Given the description of an element on the screen output the (x, y) to click on. 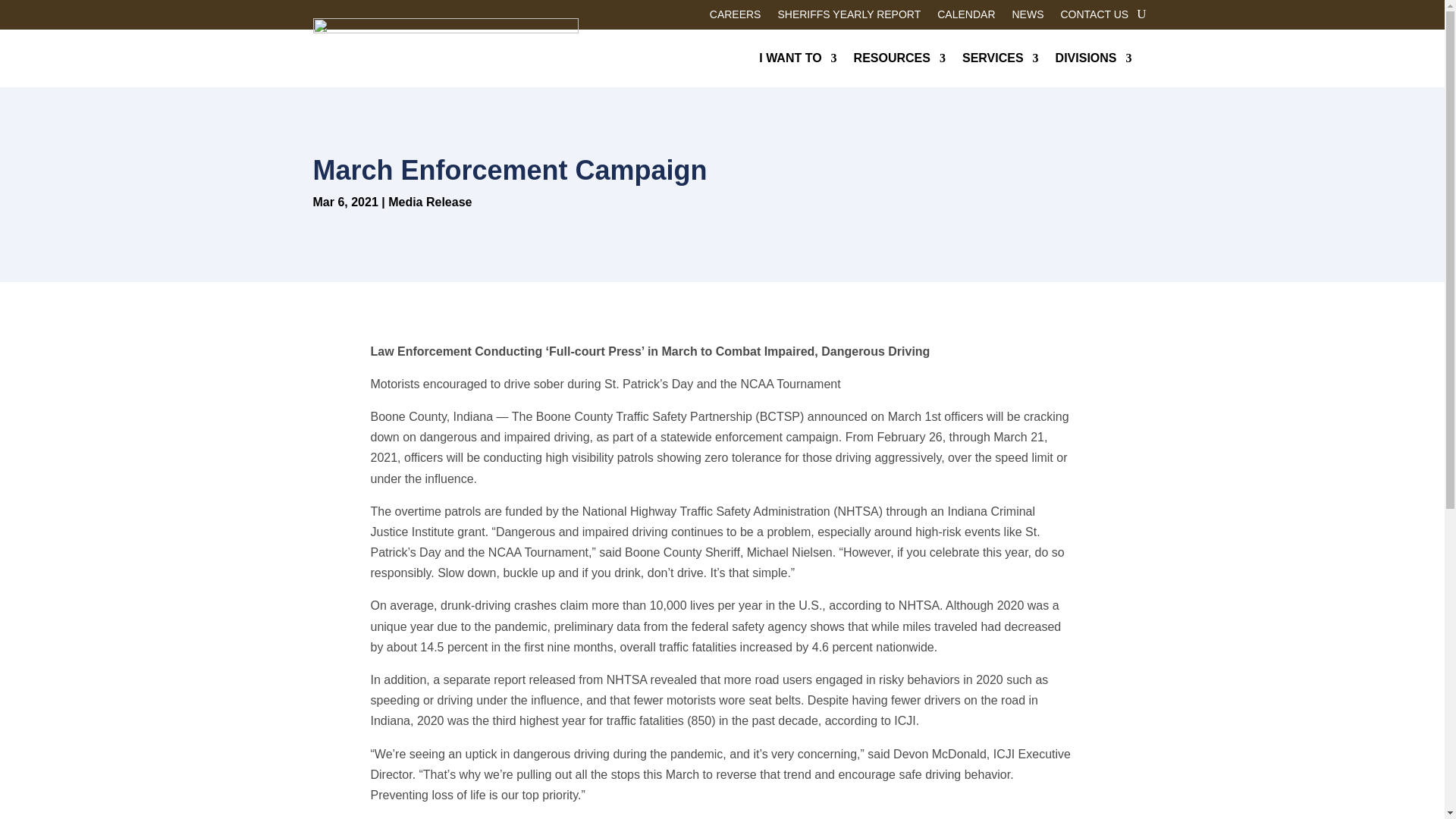
RESOURCES (898, 57)
I WANT TO (796, 57)
CAREERS (735, 17)
SHERIFFS YEARLY REPORT (848, 17)
CALENDAR (965, 17)
CONTACT US (1093, 17)
NEWS (1027, 17)
